Given the description of an element on the screen output the (x, y) to click on. 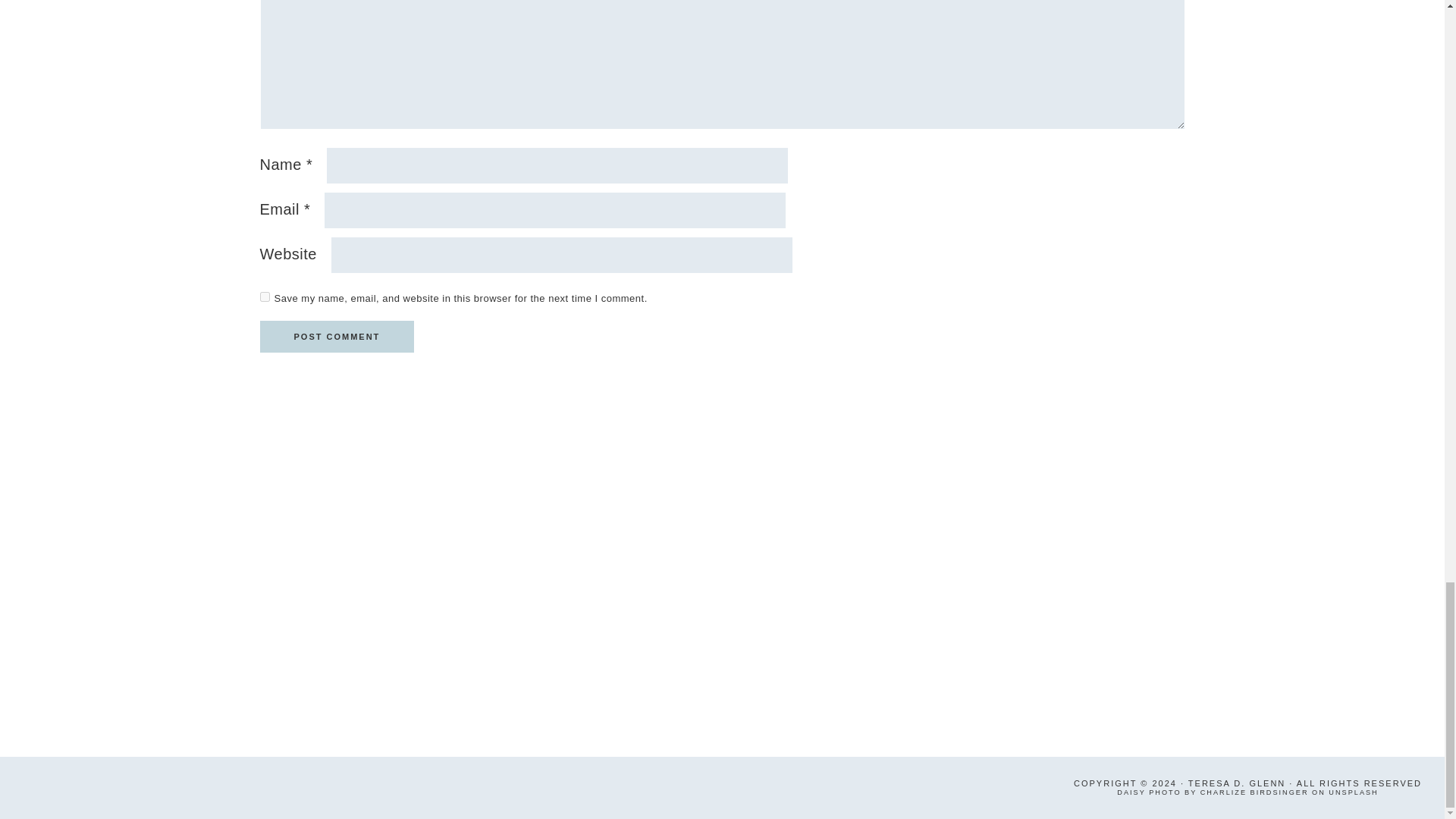
CHARLIZE BIRDSINGER (1253, 792)
yes (264, 296)
Post Comment (336, 336)
UNSPLASH (1352, 792)
Post Comment (336, 336)
